Given the description of an element on the screen output the (x, y) to click on. 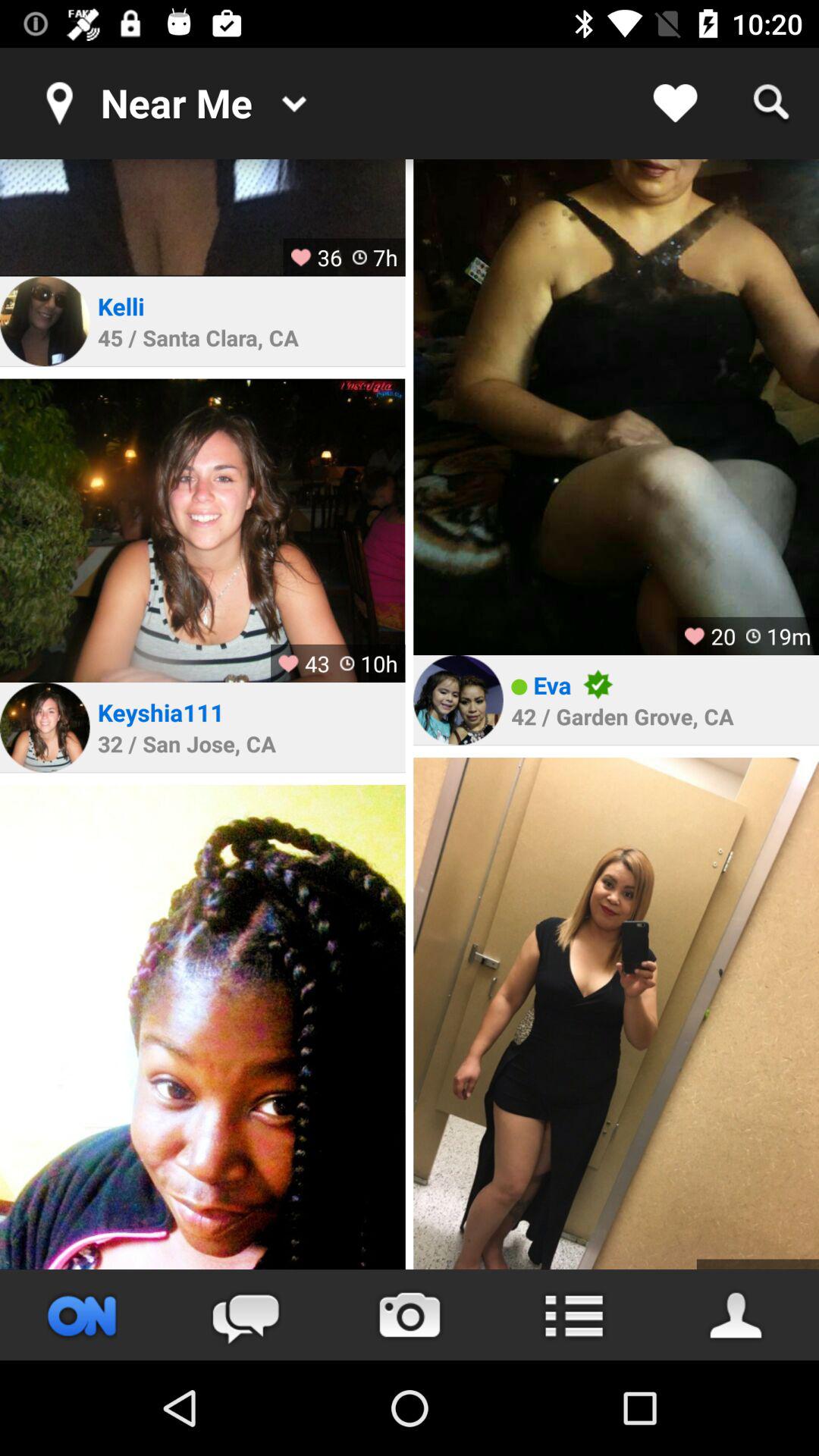
open profile page (202, 530)
